Given the description of an element on the screen output the (x, y) to click on. 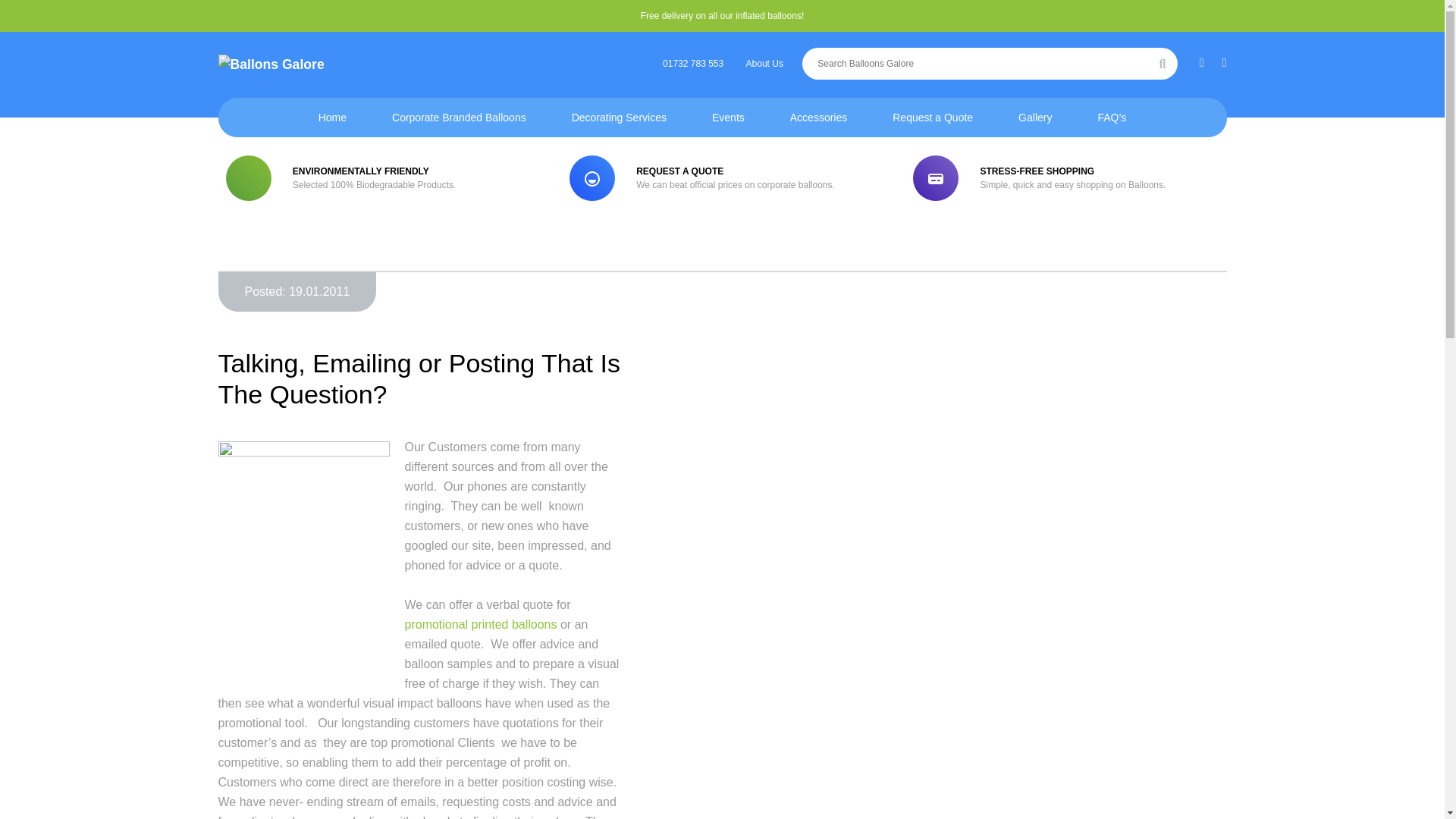
promotional printed balloons (480, 624)
About Us (764, 63)
Events (727, 117)
Corporate Branded Balloons (458, 117)
Gallery (1034, 117)
Request a Quote (932, 117)
Events (727, 117)
Decorating Services (618, 117)
